Given the description of an element on the screen output the (x, y) to click on. 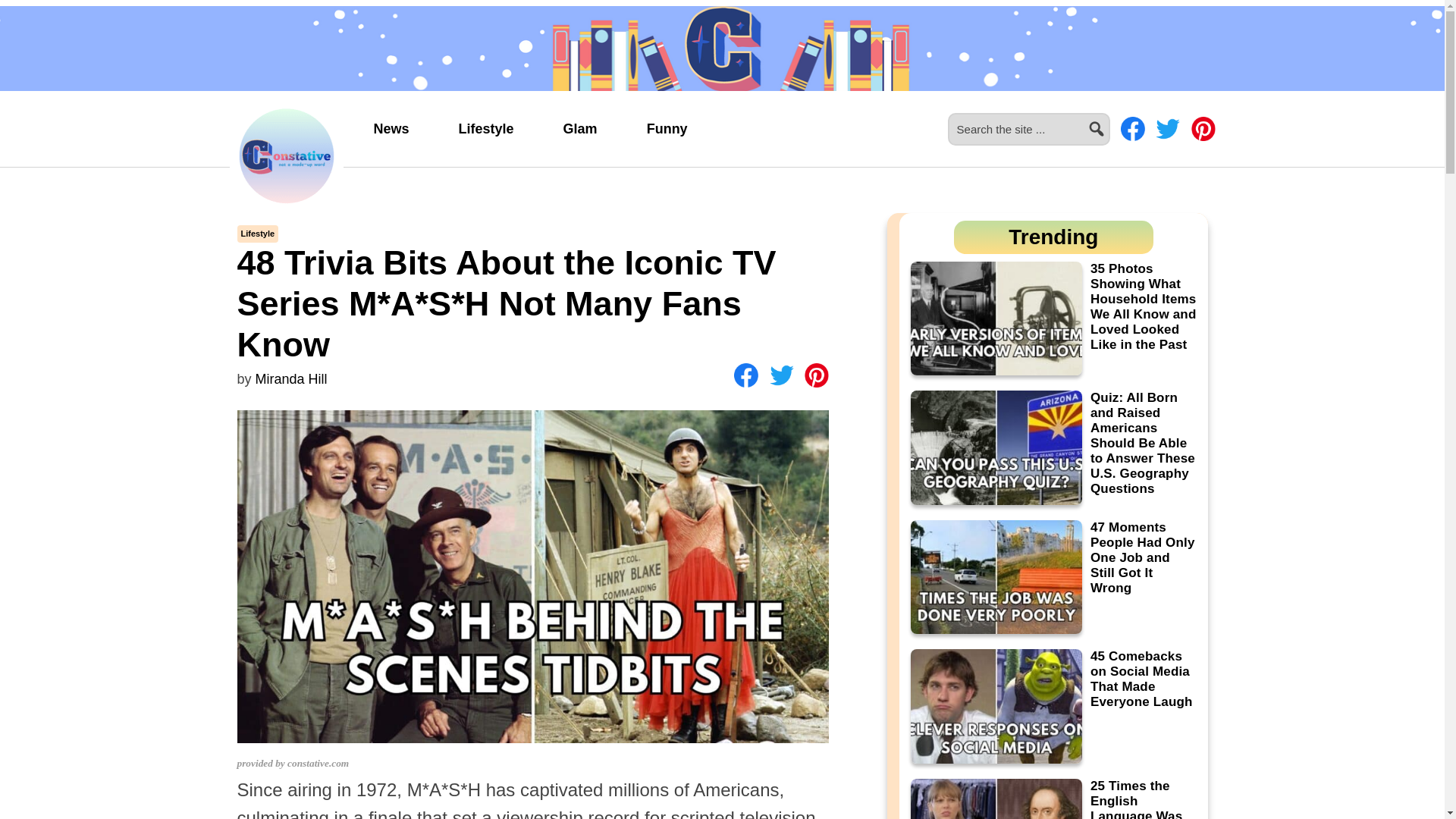
Entertainment (667, 128)
Lifestyle (486, 128)
Lifestyle (486, 128)
Funny (667, 128)
45 Comebacks on Social Media That Made Everyone Laugh (1053, 706)
47 Moments People Had Only One Job and Still Got It Wrong (1053, 577)
Miranda Hill (291, 378)
Search (1116, 119)
Glam (580, 128)
